Given the description of an element on the screen output the (x, y) to click on. 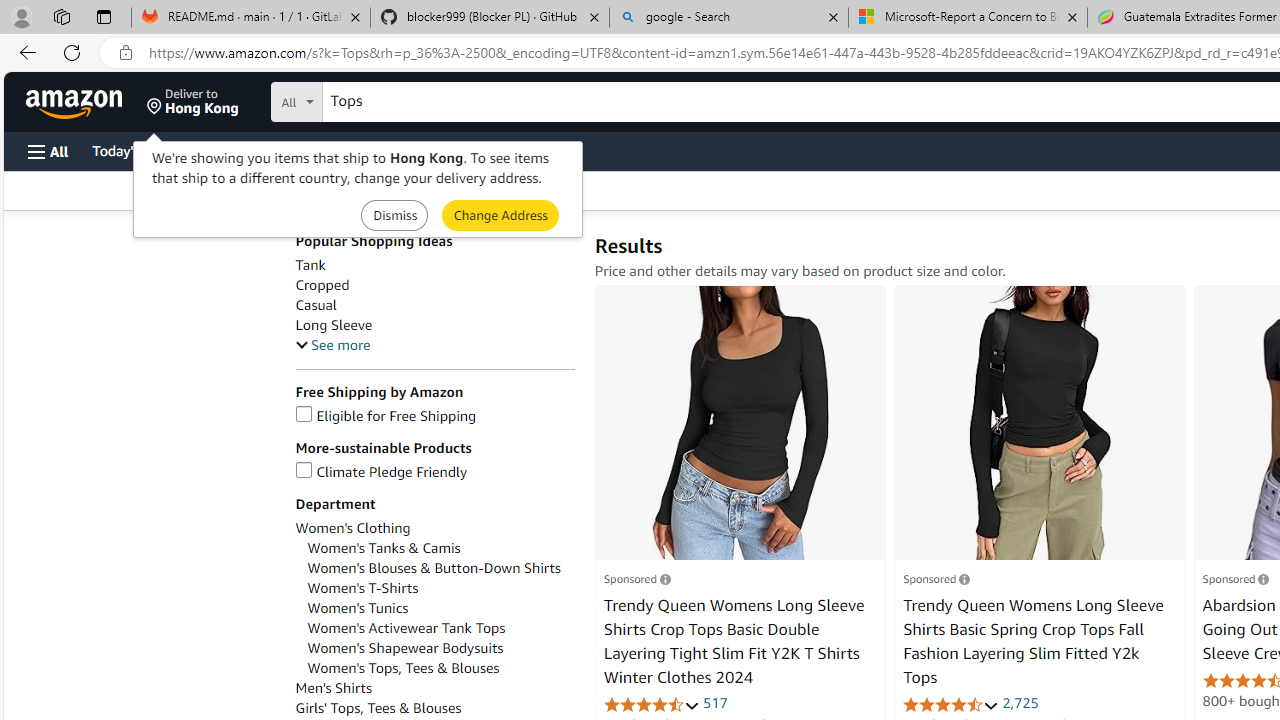
Amazon (76, 101)
Women's Tanks & Camis (383, 548)
Women's Tanks & Camis (440, 548)
Cropped (321, 285)
Men's Shirts (434, 687)
Cropped (434, 285)
Climate Pledge Friendly (434, 471)
View Sponsored information or leave ad feedback (1235, 578)
4.4 out of 5 stars (950, 704)
Girls' Tops, Tees & Blouses (434, 708)
Women's Blouses & Button-Down Shirts (433, 568)
Tank (434, 265)
Women's T-Shirts (440, 588)
